Given the description of an element on the screen output the (x, y) to click on. 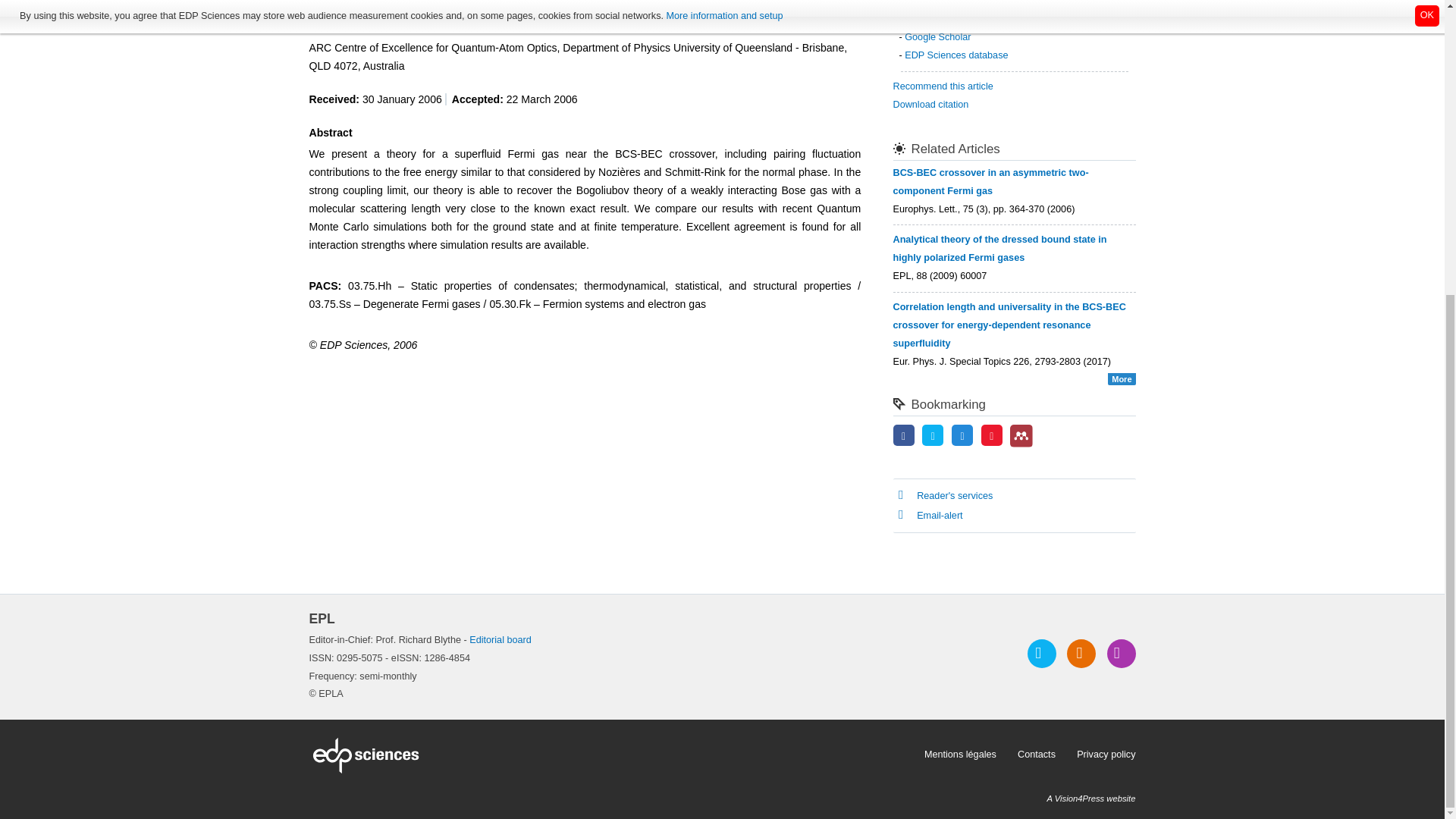
Register to the journal email alert (1120, 653)
Share on Twitter (932, 436)
Share on LinkedIn (962, 436)
Share on Sina Weibo (992, 436)
Mendeley (1021, 436)
EDP Sciences website (611, 754)
Follow us on Twitter (1042, 653)
Share on Facebook (903, 436)
Access our RSS feeds (1081, 653)
Add this article to your Mendeley library (1021, 443)
